Given the description of an element on the screen output the (x, y) to click on. 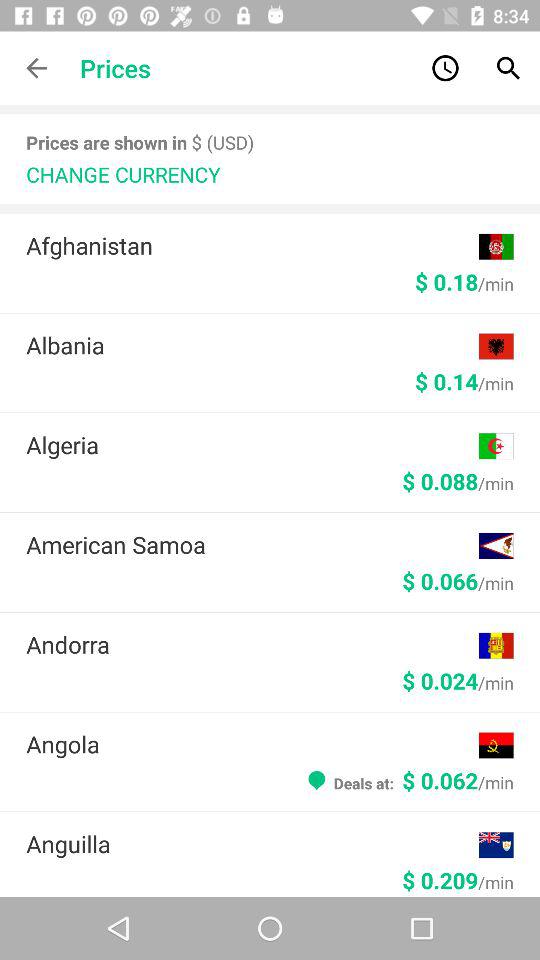
swipe until andorra (252, 644)
